Given the description of an element on the screen output the (x, y) to click on. 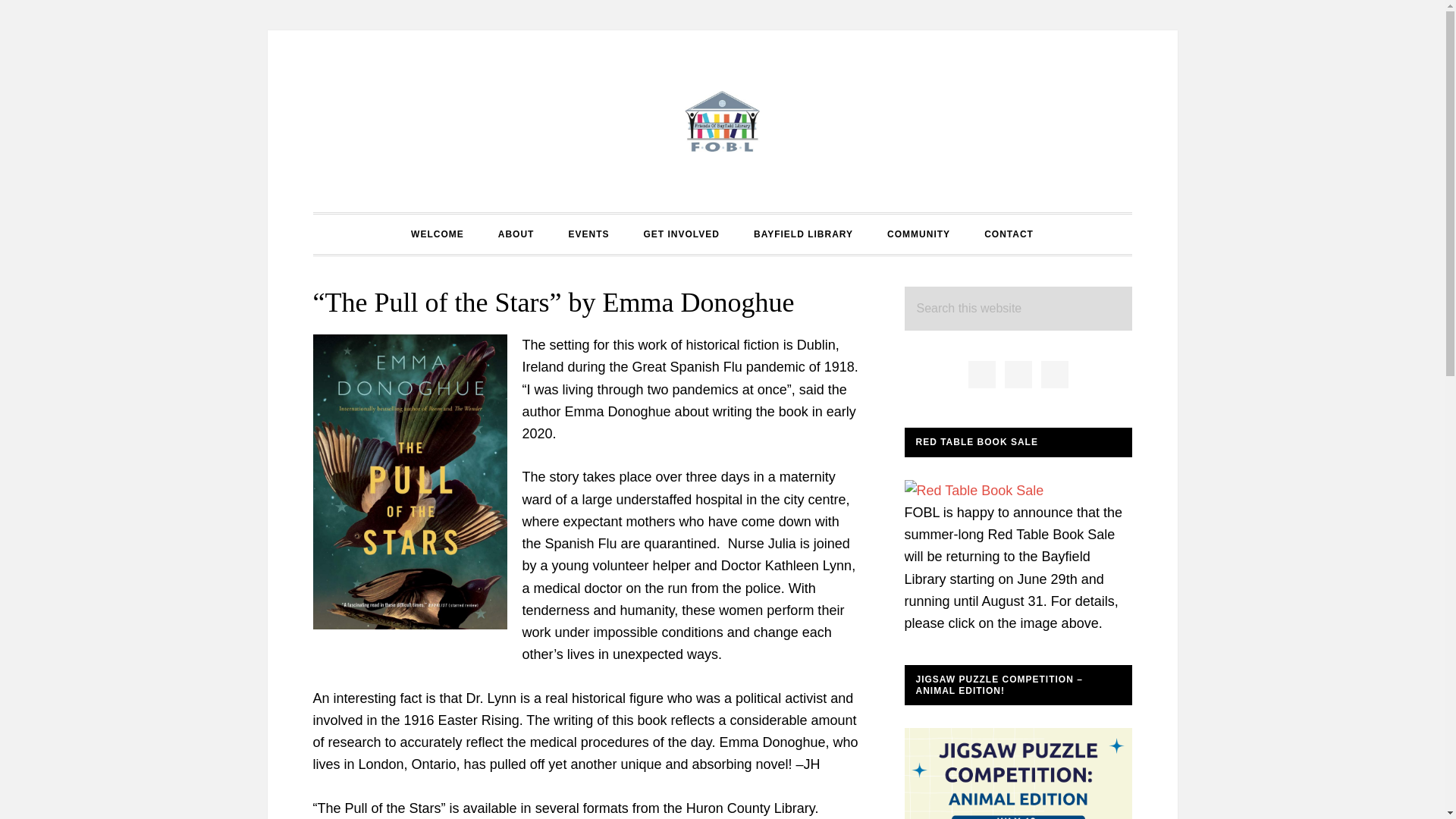
EVENTS (588, 233)
FOBL (721, 120)
BAYFIELD LIBRARY (802, 233)
COMMUNITY (918, 233)
CONTACT (1008, 233)
WELCOME (437, 233)
Red Table Book Sale (973, 490)
ABOUT (516, 233)
GET INVOLVED (680, 233)
